Given the description of an element on the screen output the (x, y) to click on. 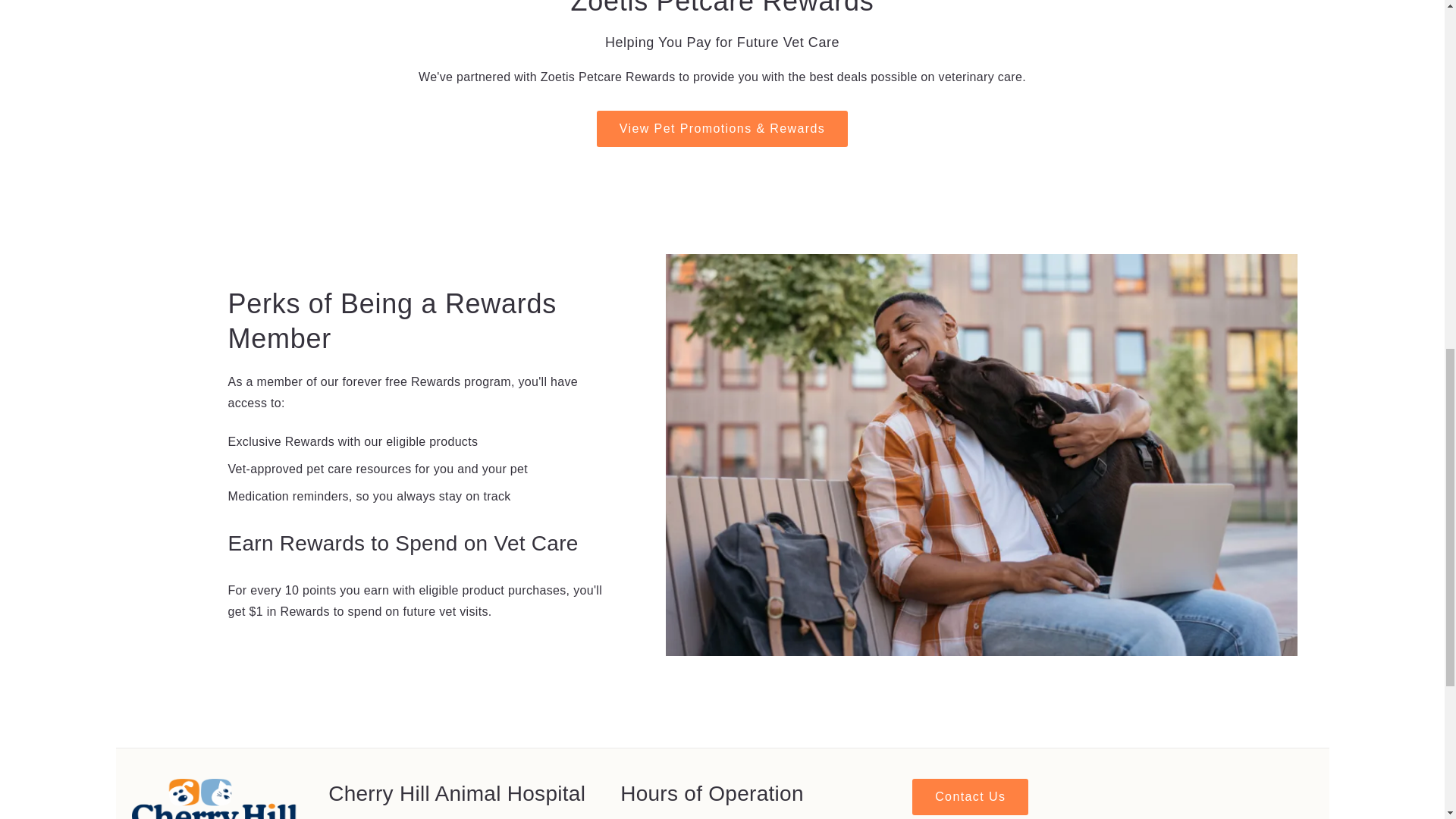
Contact Us (969, 796)
